Given the description of an element on the screen output the (x, y) to click on. 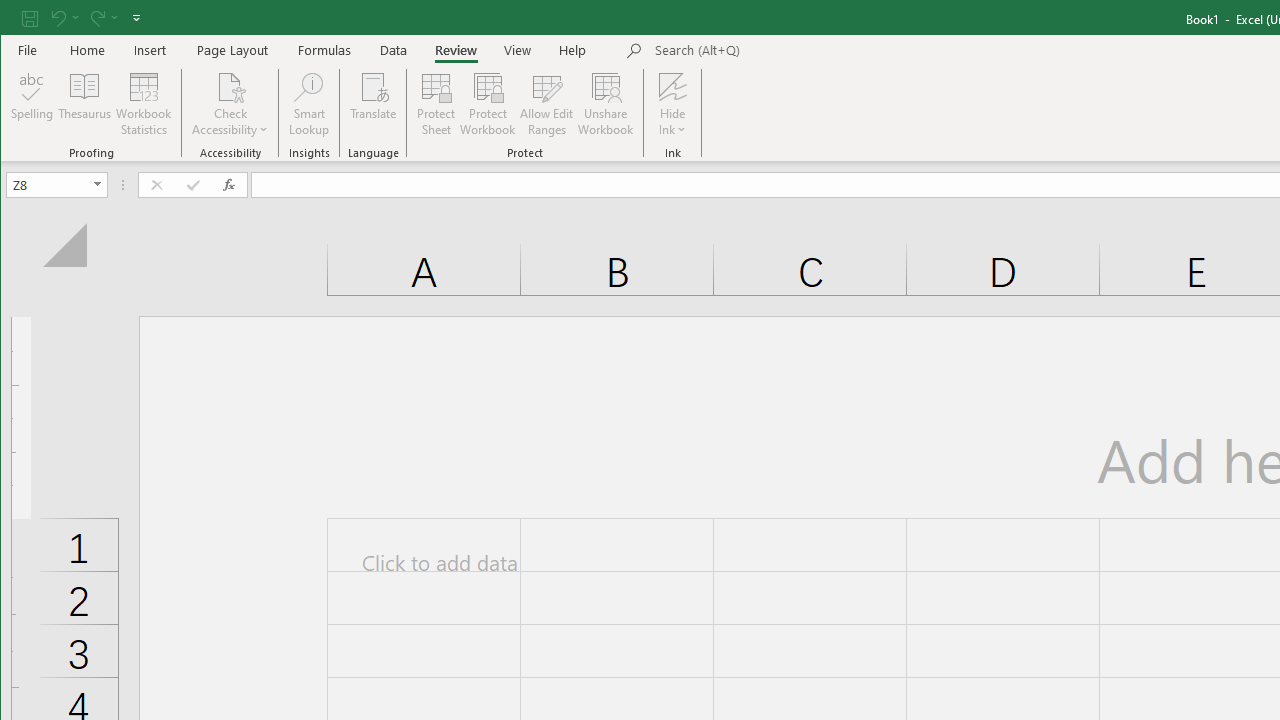
Formulas (325, 50)
Workbook Statistics (143, 104)
Check Accessibility (230, 104)
Help (573, 50)
Protect Workbook... (488, 104)
File Tab (28, 49)
Open (98, 184)
Thesaurus... (84, 104)
Insert (150, 50)
